Given the description of an element on the screen output the (x, y) to click on. 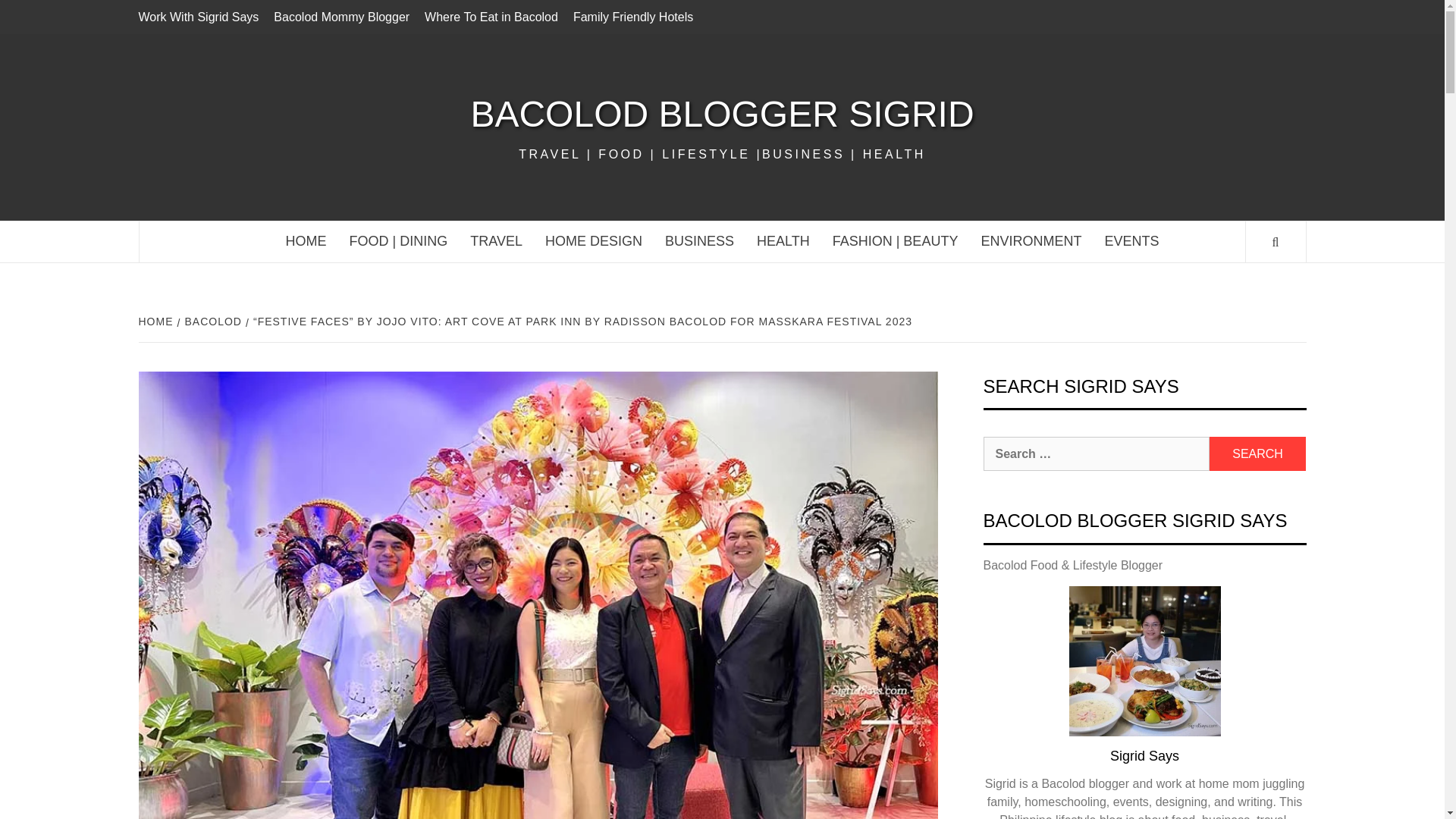
Family Travel: Family Friendly Hotels (633, 17)
ENVIRONMENT (1031, 241)
Search (1257, 453)
Family Friendly Hotels (633, 17)
EVENTS (1131, 241)
Where To Eat in Bacolod (491, 17)
Beauty products, styles, fashion picks (895, 241)
BACOLOD BLOGGER SIGRID (720, 114)
Bacolod Mommy Blogger (341, 17)
Health, Lifestyle, Supplements (783, 241)
HOME (306, 241)
Bacolod Restaurants (398, 241)
Work With Sigrid Says (202, 17)
TRAVEL (496, 241)
Bacolod Mommy Blogger (341, 17)
